Given the description of an element on the screen output the (x, y) to click on. 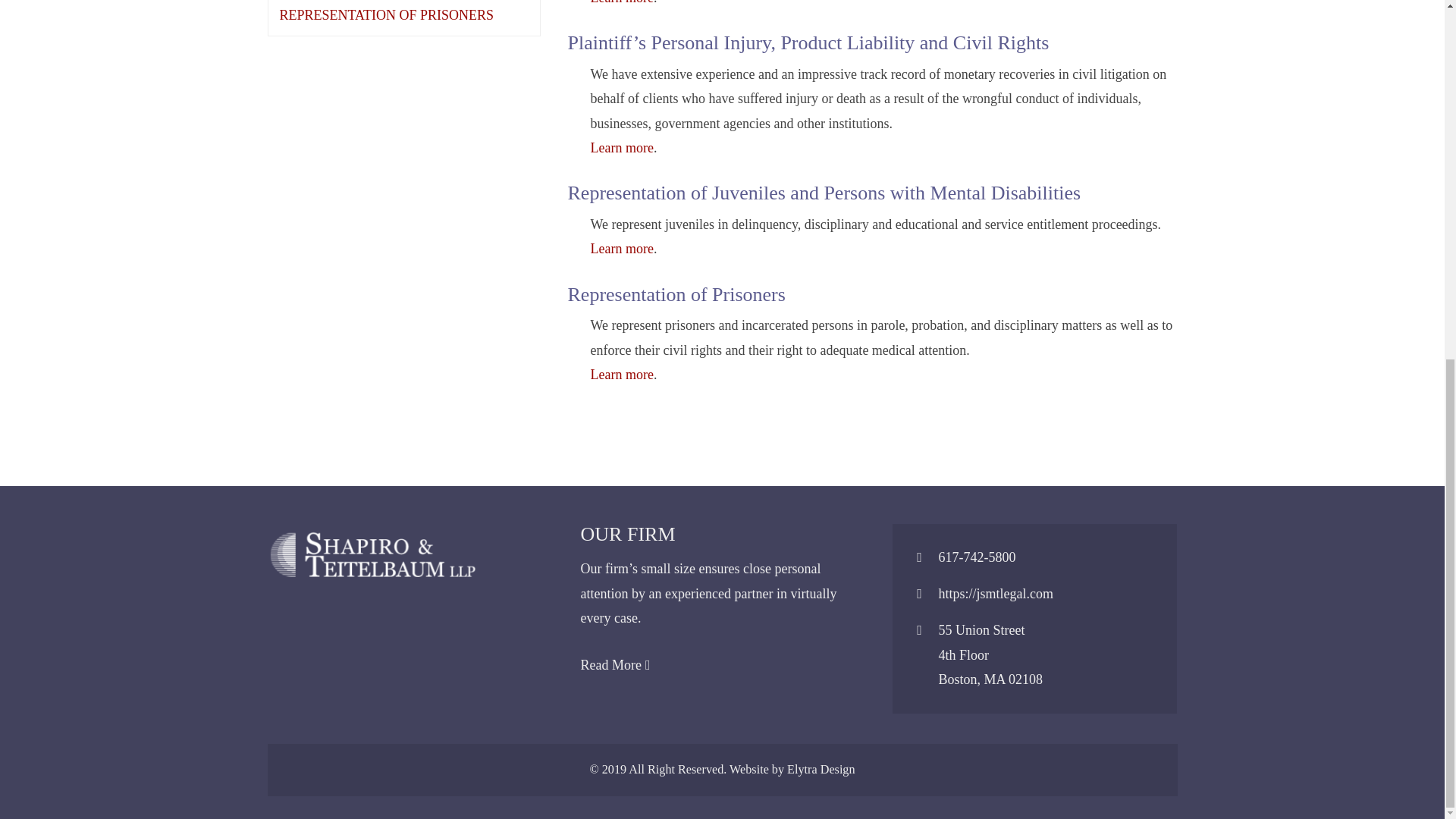
Learn more (620, 374)
Learn more (620, 248)
Learn more (620, 147)
Learn more (620, 2)
